Given the description of an element on the screen output the (x, y) to click on. 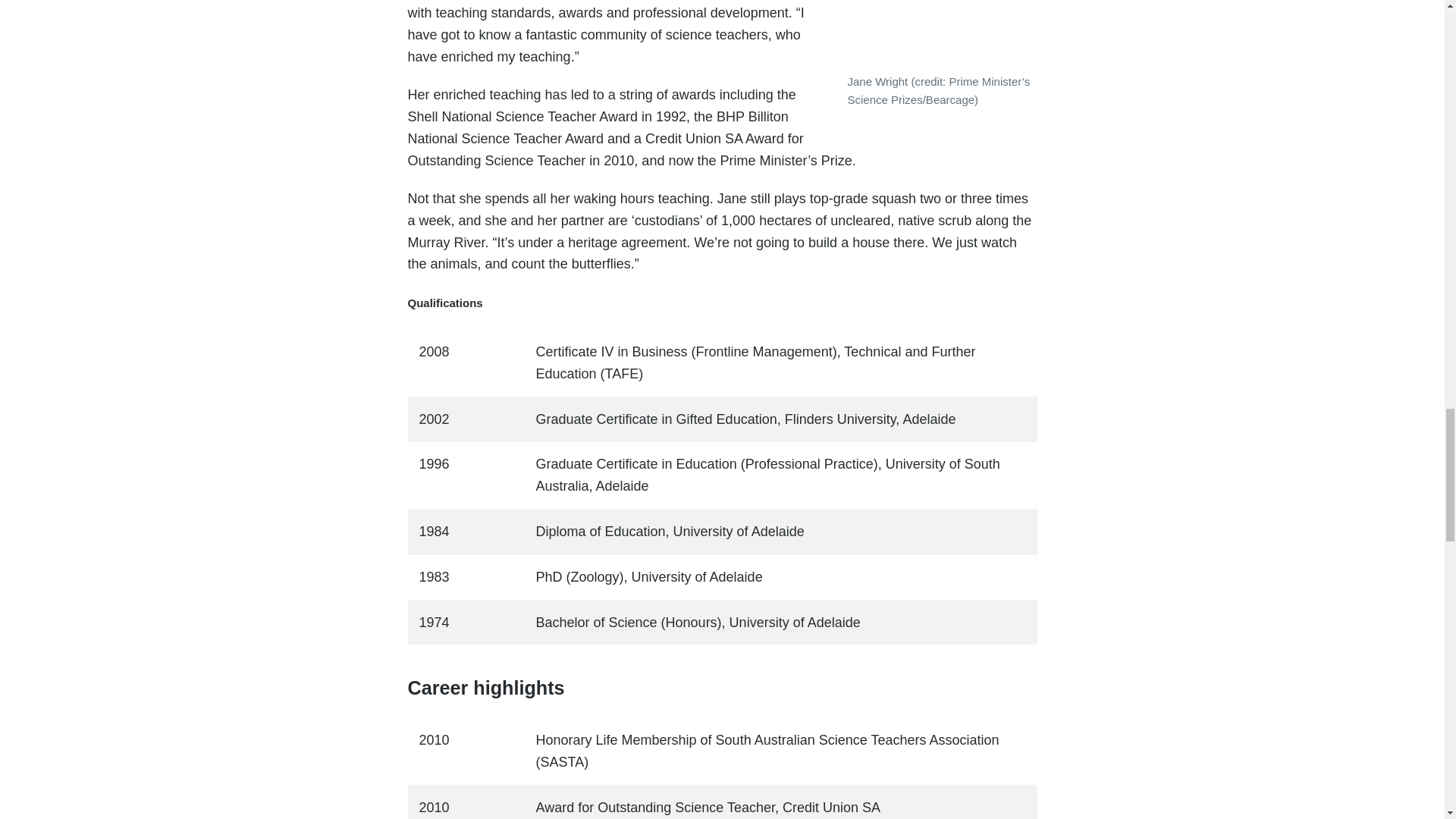
Jane mid (938, 32)
